Given the description of an element on the screen output the (x, y) to click on. 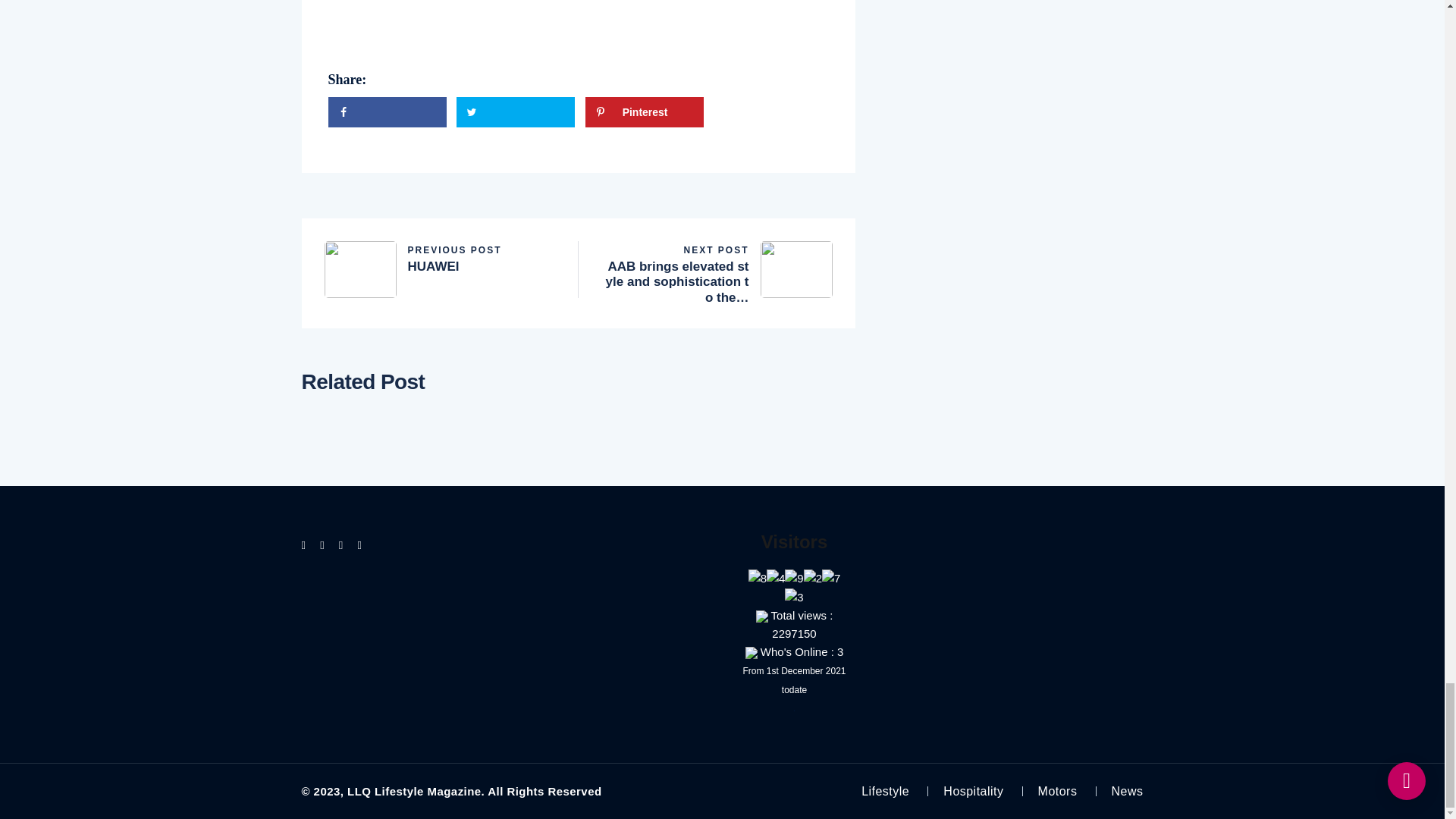
Pinterest (440, 257)
Share on Facebook (644, 112)
Twitter (386, 112)
Facebook (516, 112)
Share on Twitter (386, 112)
Save to Pinterest (516, 112)
